Given the description of an element on the screen output the (x, y) to click on. 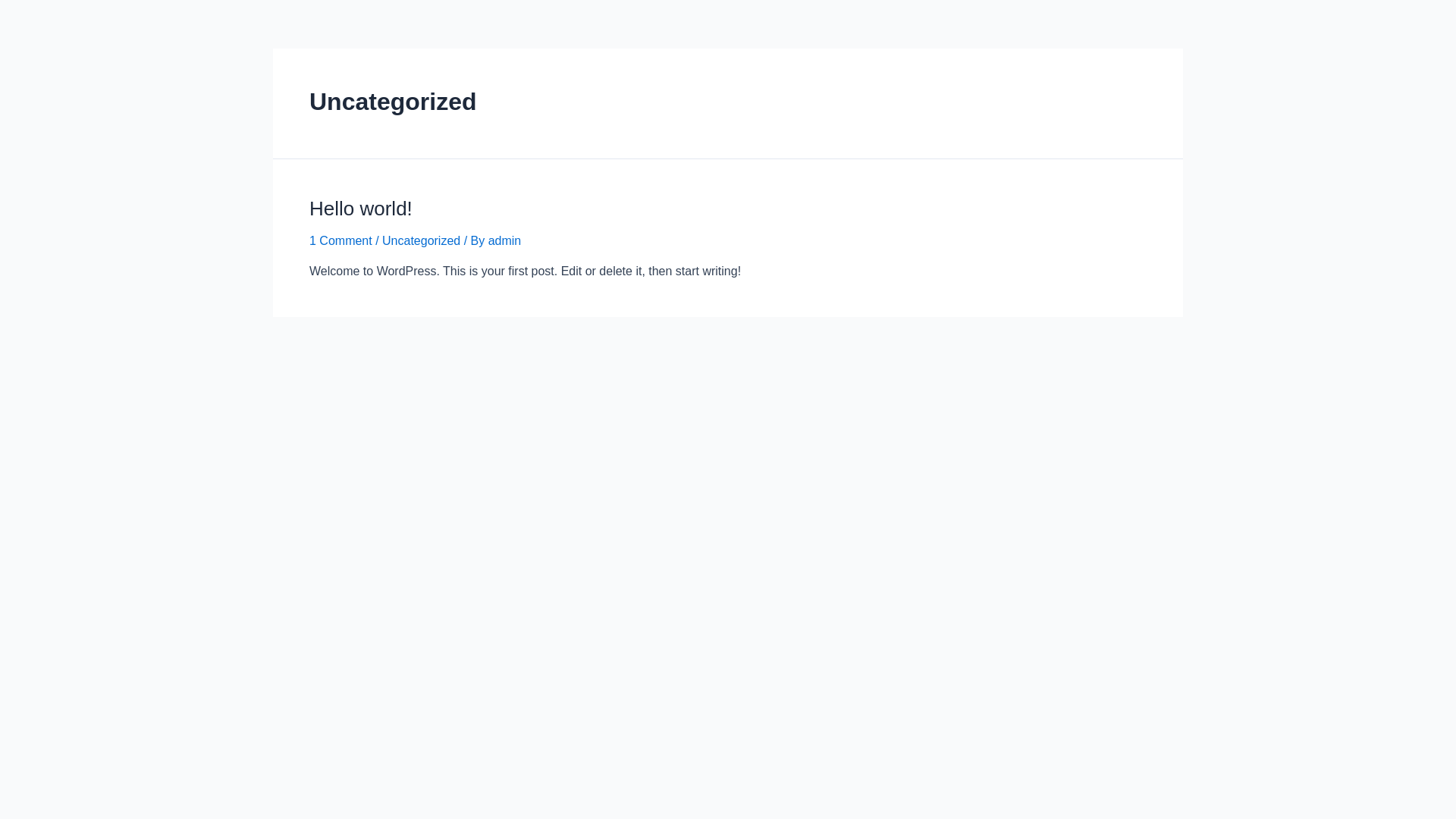
Hello world! Element type: text (360, 208)
Uncategorized Element type: text (421, 240)
1 Comment Element type: text (340, 240)
admin Element type: text (504, 240)
